Given the description of an element on the screen output the (x, y) to click on. 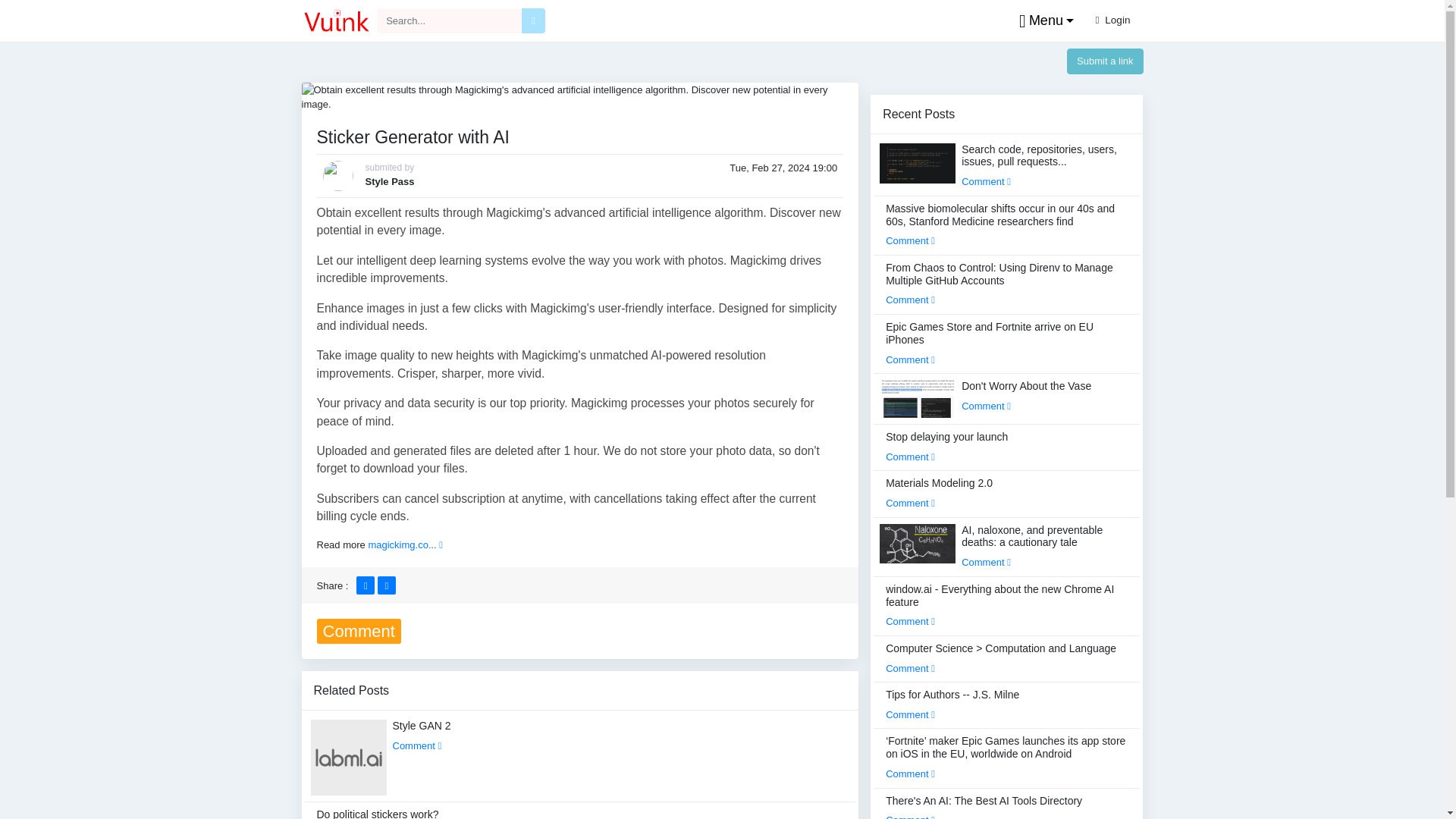
Do political stickers work? (378, 813)
Submit a link (1104, 61)
Comment (417, 745)
Style GAN 2 (422, 735)
Sticker                       Generator with AI (580, 96)
Menu (1043, 20)
magickimg.co... (405, 544)
